Given the description of an element on the screen output the (x, y) to click on. 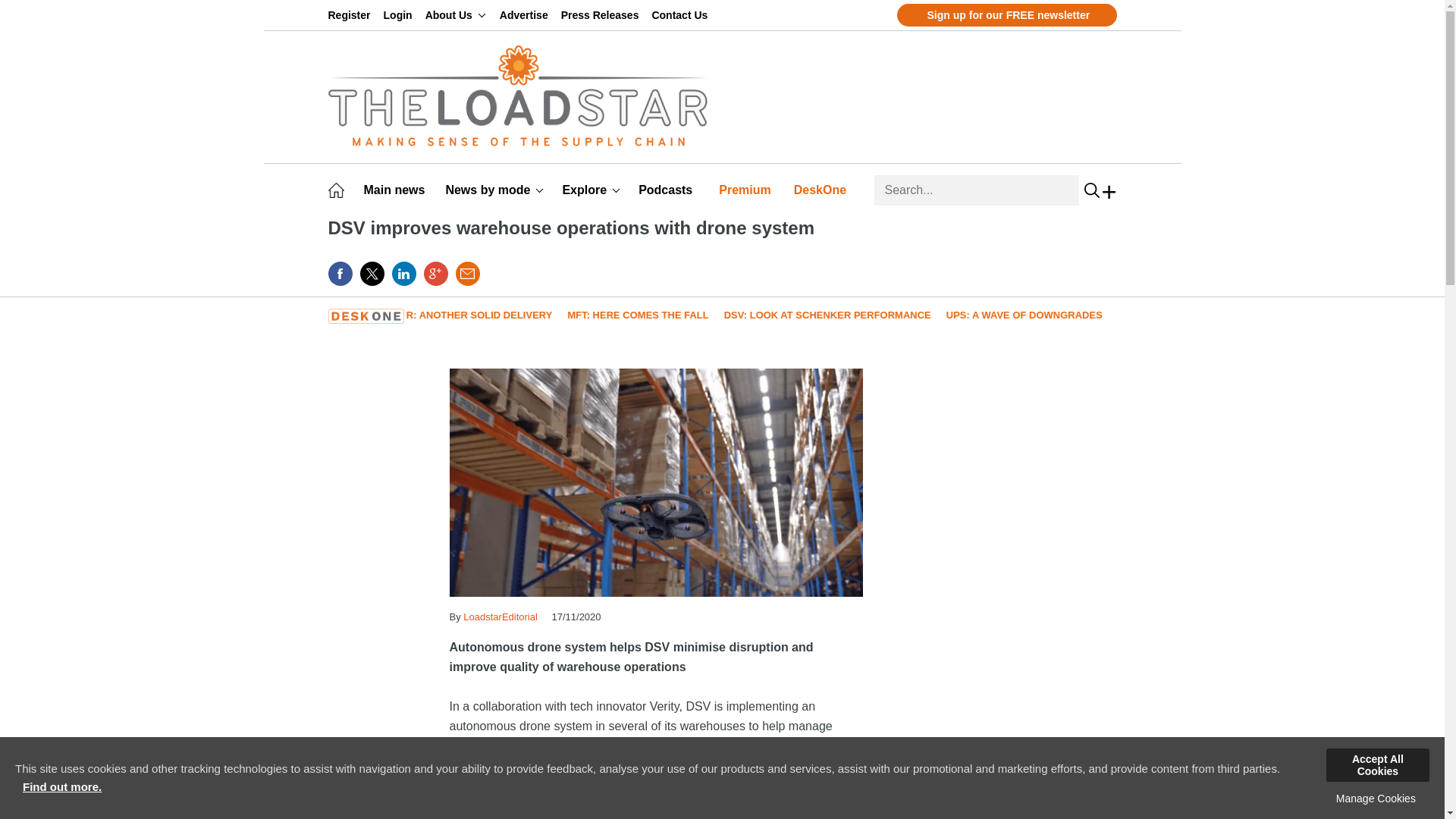
Sign up for our FREE newsletter (1006, 15)
DeskOne (822, 190)
Contact Us (681, 15)
News by mode (494, 190)
Login (400, 15)
Podcasts (668, 190)
Login (400, 15)
Premium (747, 190)
Press Releases (602, 15)
Press Releases (602, 15)
Explore (591, 190)
Podcasts (668, 190)
Contact Us (681, 15)
About Us (455, 15)
Register (351, 15)
